Given the description of an element on the screen output the (x, y) to click on. 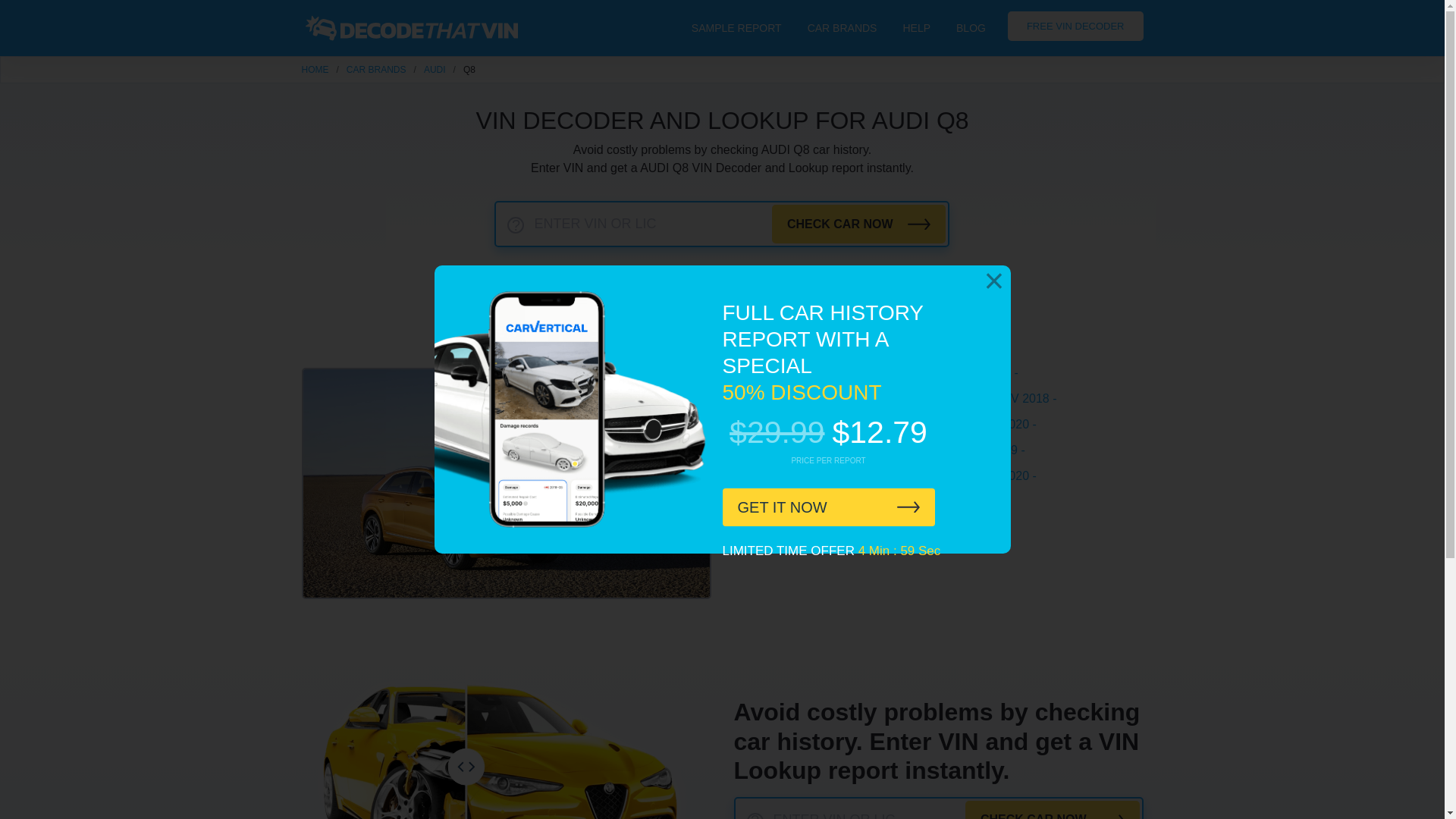
HOME (315, 69)
CAR BRANDS (376, 69)
? (753, 816)
CHECK CAR NOW (858, 223)
HELP (916, 27)
FREE VIN DECODER (1074, 25)
AUDI (434, 69)
BLOG (971, 27)
CHECK CAR NOW (1052, 809)
? (515, 225)
